Given the description of an element on the screen output the (x, y) to click on. 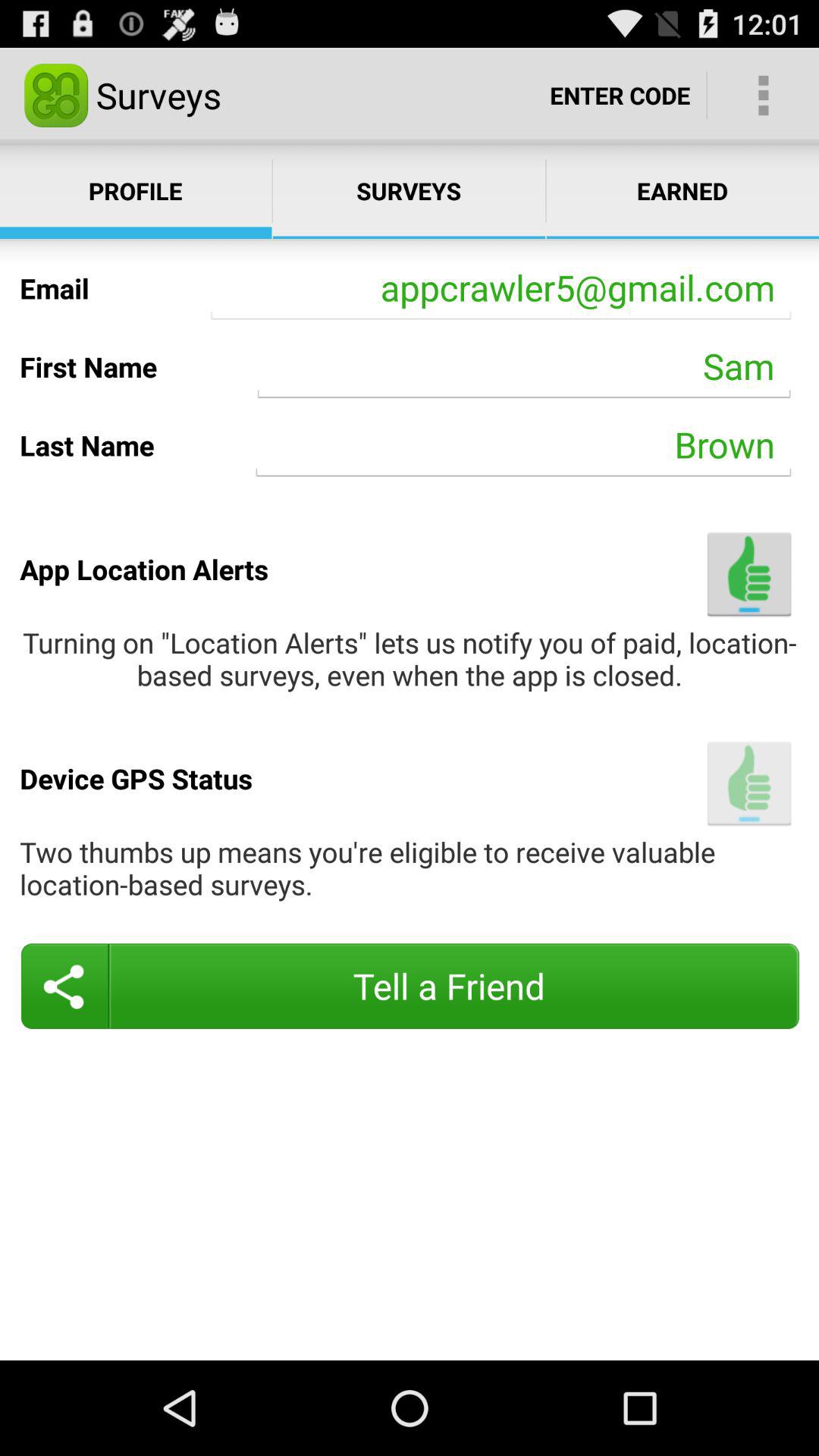
open the app below the surveys item (501, 288)
